Given the description of an element on the screen output the (x, y) to click on. 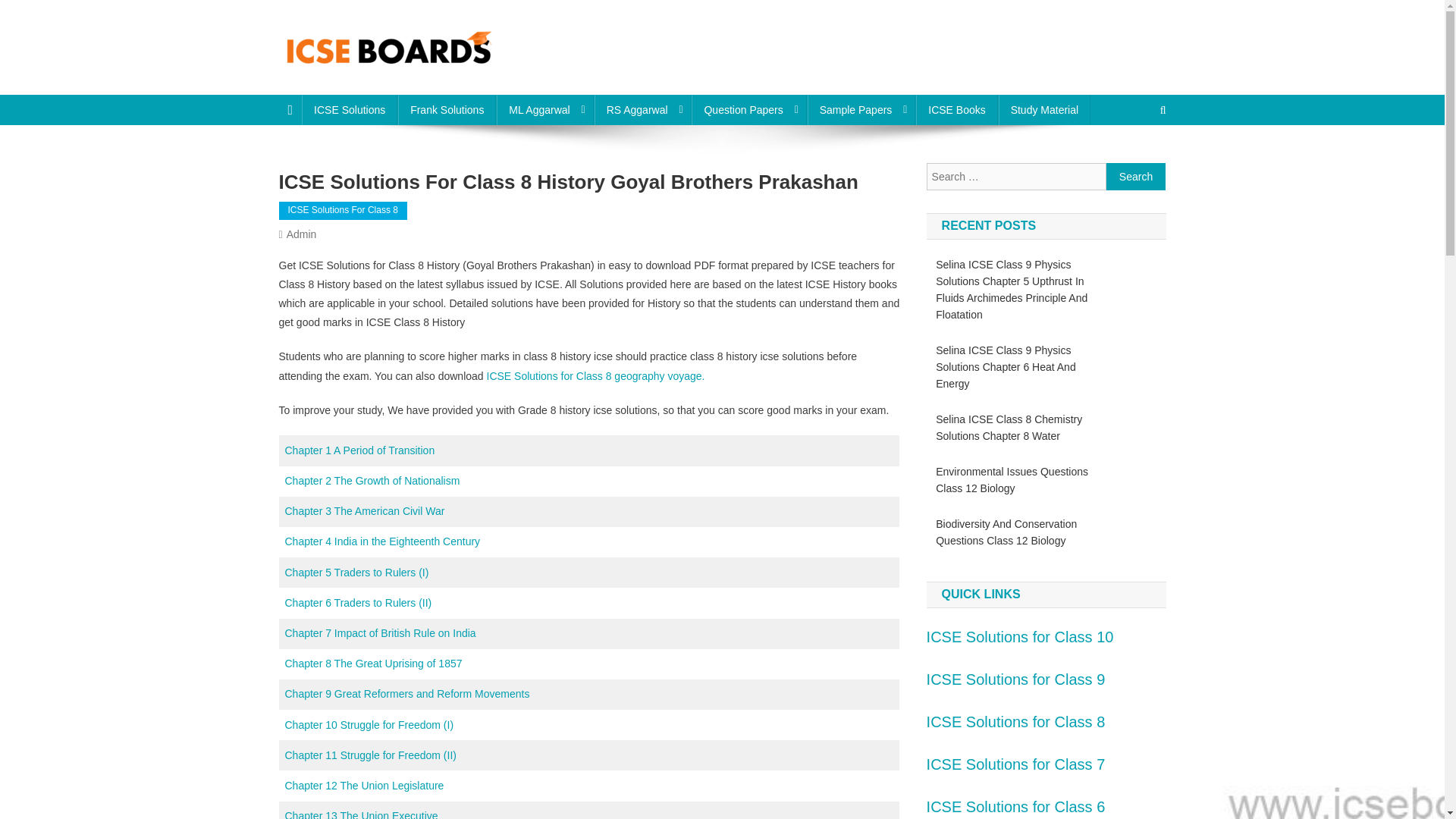
Chapter 2 The Growth of Nationalism (372, 480)
ICSE Board (345, 79)
Search (1133, 160)
ICSE Solutions for Class 8 geography voyage. (593, 376)
Study Material (1044, 110)
Search (1136, 176)
Chapter 4 India in the Eighteenth Century (382, 541)
ML Aggarwal (544, 110)
RS Aggarwal (642, 110)
ICSE Books (956, 110)
ICSE Solutions For Class 8 (343, 210)
Admin (301, 234)
Question Papers (748, 110)
Sample Papers (861, 110)
Chapter 1 A Period of Transition (360, 450)
